Given the description of an element on the screen output the (x, y) to click on. 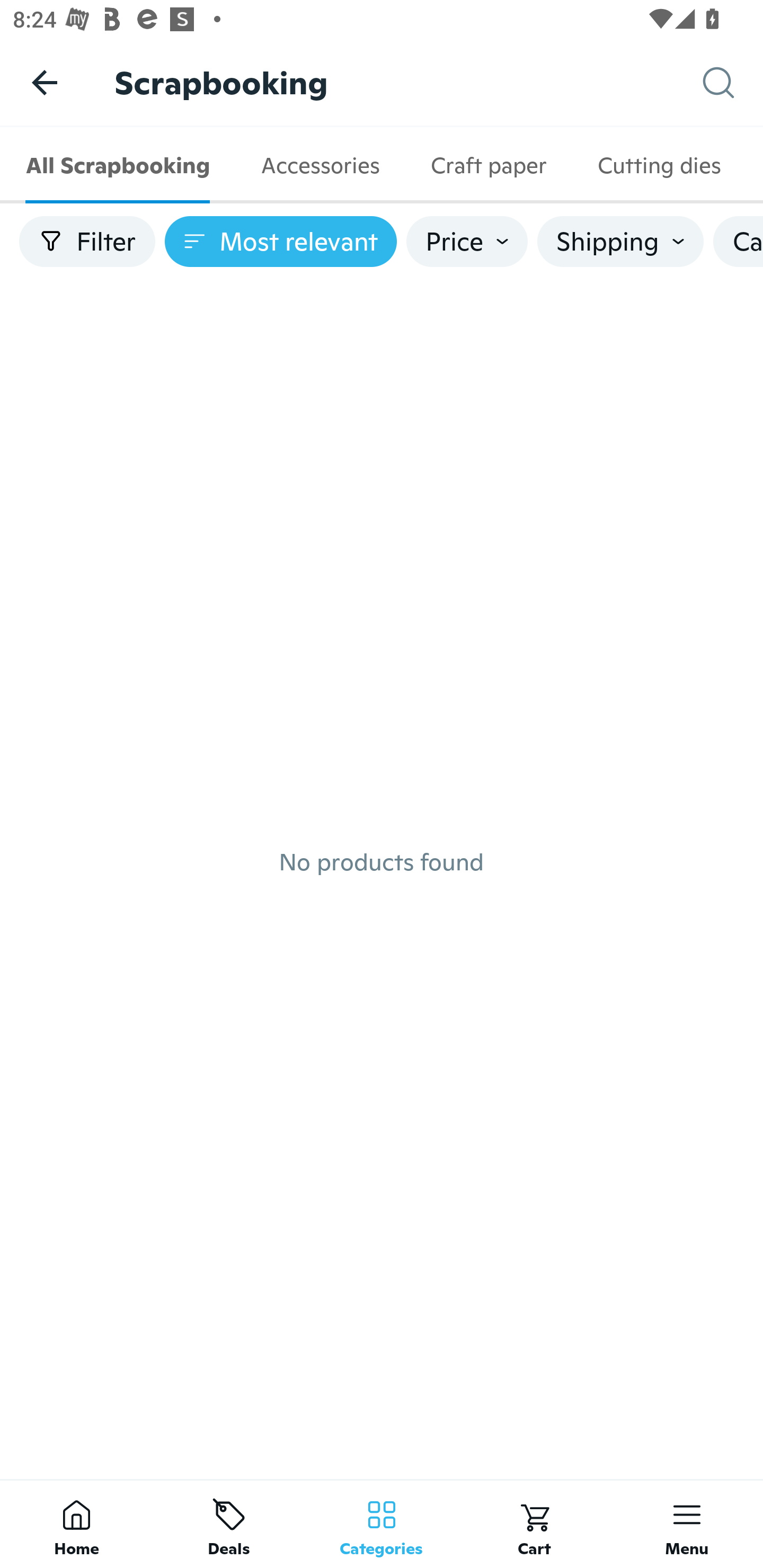
Navigate up (44, 82)
Search (732, 82)
All Scrapbooking (117, 165)
Accessories (320, 165)
Craft paper (488, 165)
Cutting dies (658, 165)
Filter (86, 241)
Most relevant (280, 241)
Price (466, 241)
Shipping (620, 241)
Home (76, 1523)
Deals (228, 1523)
Categories (381, 1523)
Cart (533, 1523)
Menu (686, 1523)
